Given the description of an element on the screen output the (x, y) to click on. 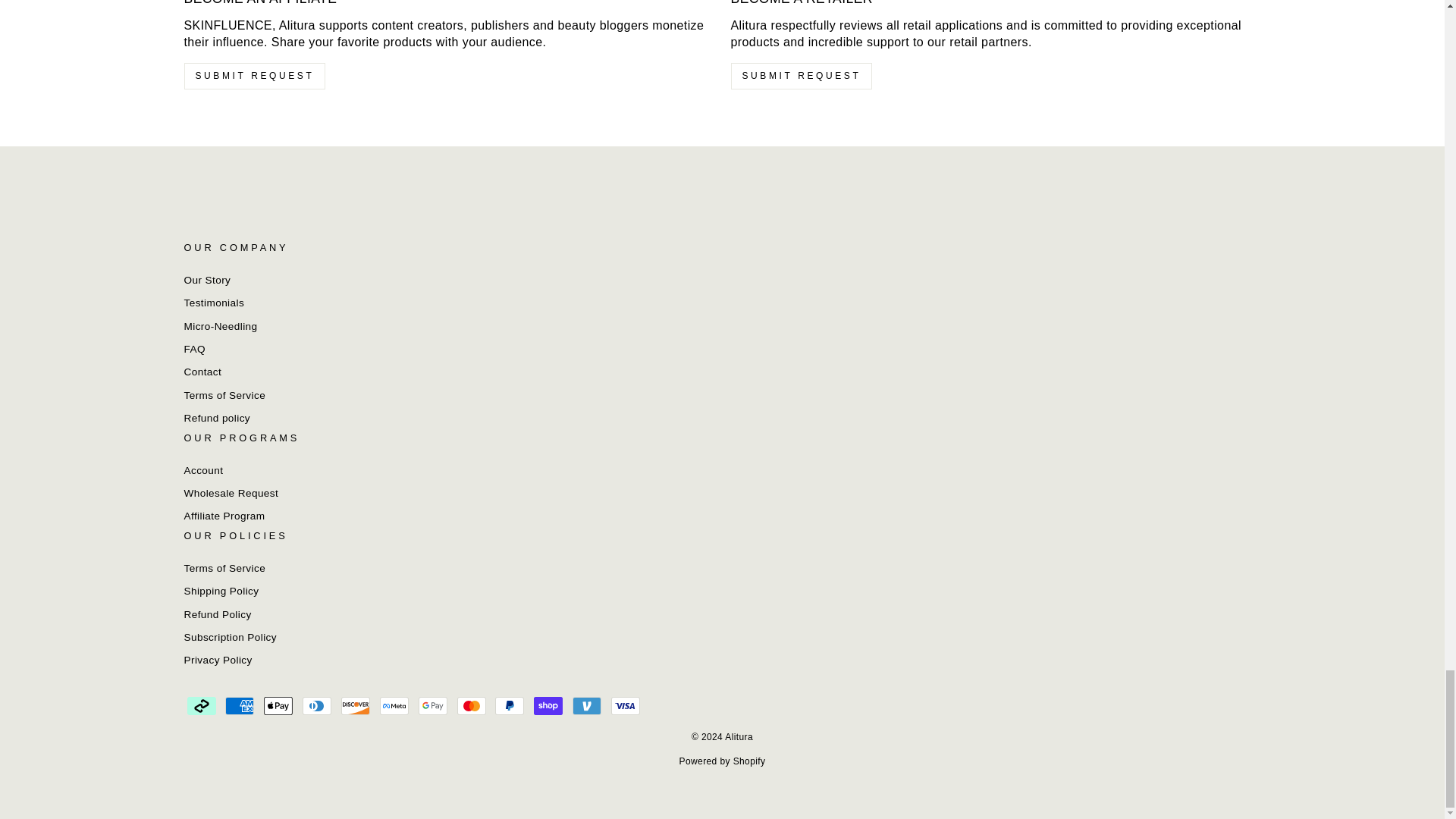
Diners Club (316, 705)
American Express (239, 705)
Meta Pay (394, 705)
PayPal (509, 705)
Google Pay (432, 705)
Afterpay (200, 705)
Shop Pay (548, 705)
Apple Pay (277, 705)
Discover (354, 705)
Mastercard (471, 705)
